Given the description of an element on the screen output the (x, y) to click on. 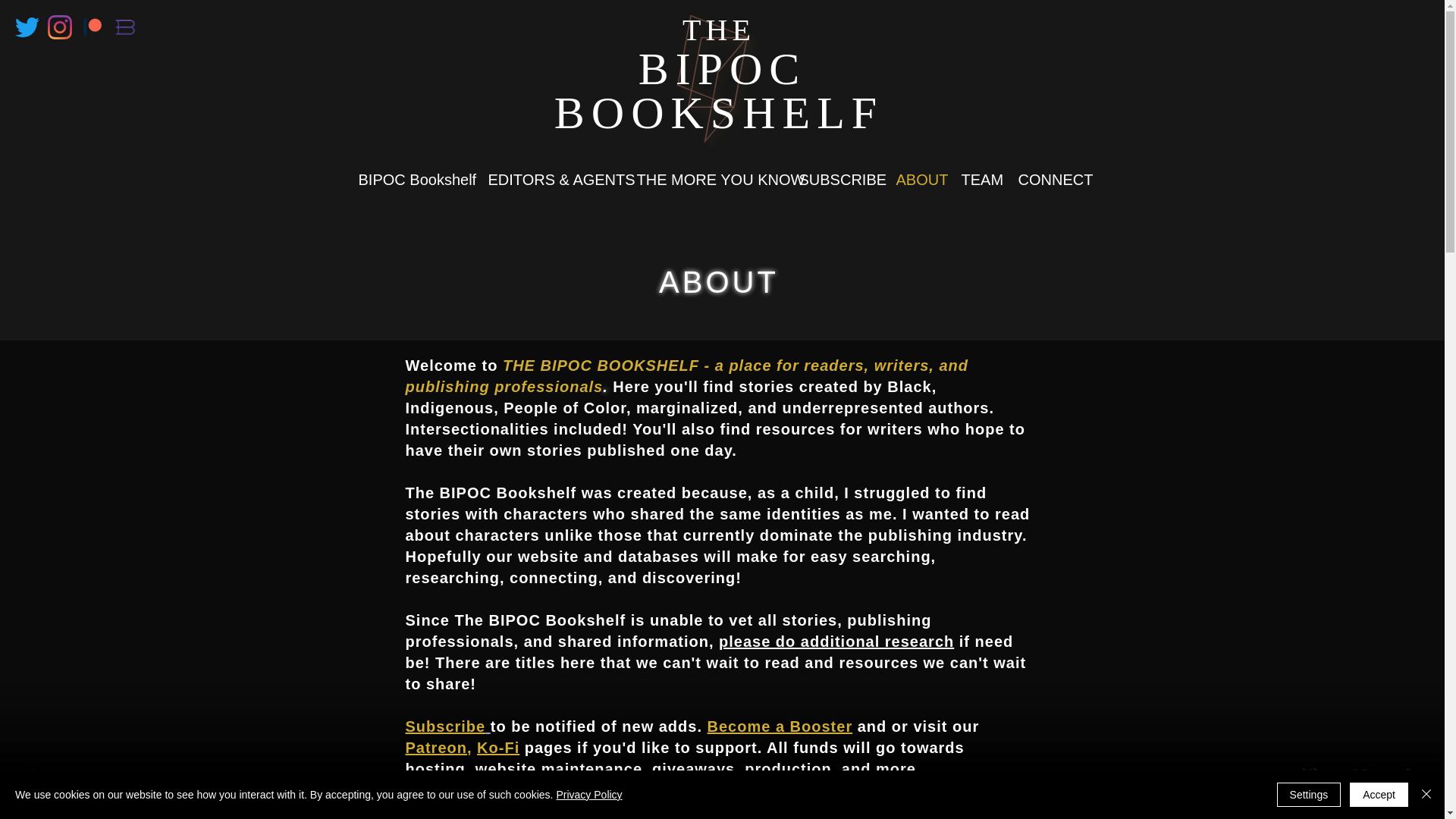
Subscribe (446, 726)
ABOUT (920, 179)
THE MORE YOU KNOW (710, 179)
TEAM (981, 179)
BOOKSHELF (718, 112)
CONNECT (1051, 179)
SUBSCRIBE (840, 179)
BIPOC (721, 68)
BIPOC Bookshelf (415, 179)
Become a Booster (780, 726)
THE (718, 28)
Ko-Fi (498, 747)
Patreon (434, 747)
